Given the description of an element on the screen output the (x, y) to click on. 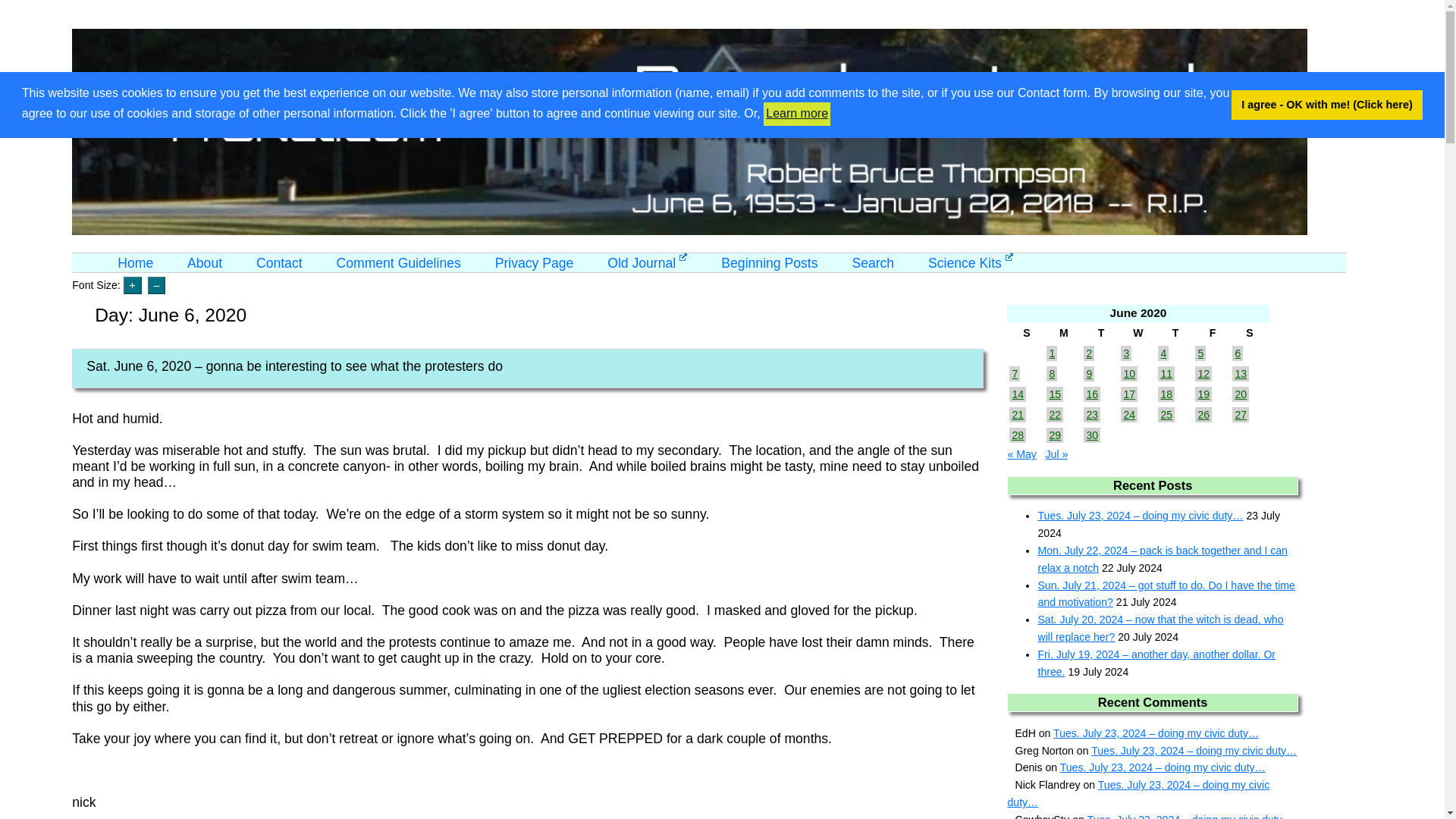
21 (1017, 414)
19 (1203, 394)
Beginning Posts (768, 263)
Privacy Page (534, 263)
22 (1054, 414)
Saturday (1248, 333)
About (204, 263)
Increase font size (132, 284)
Sunday (1026, 333)
Monday (1063, 333)
Contact (279, 263)
24 (1129, 414)
15 (1054, 394)
26 (1203, 414)
12 (1203, 373)
